Given the description of an element on the screen output the (x, y) to click on. 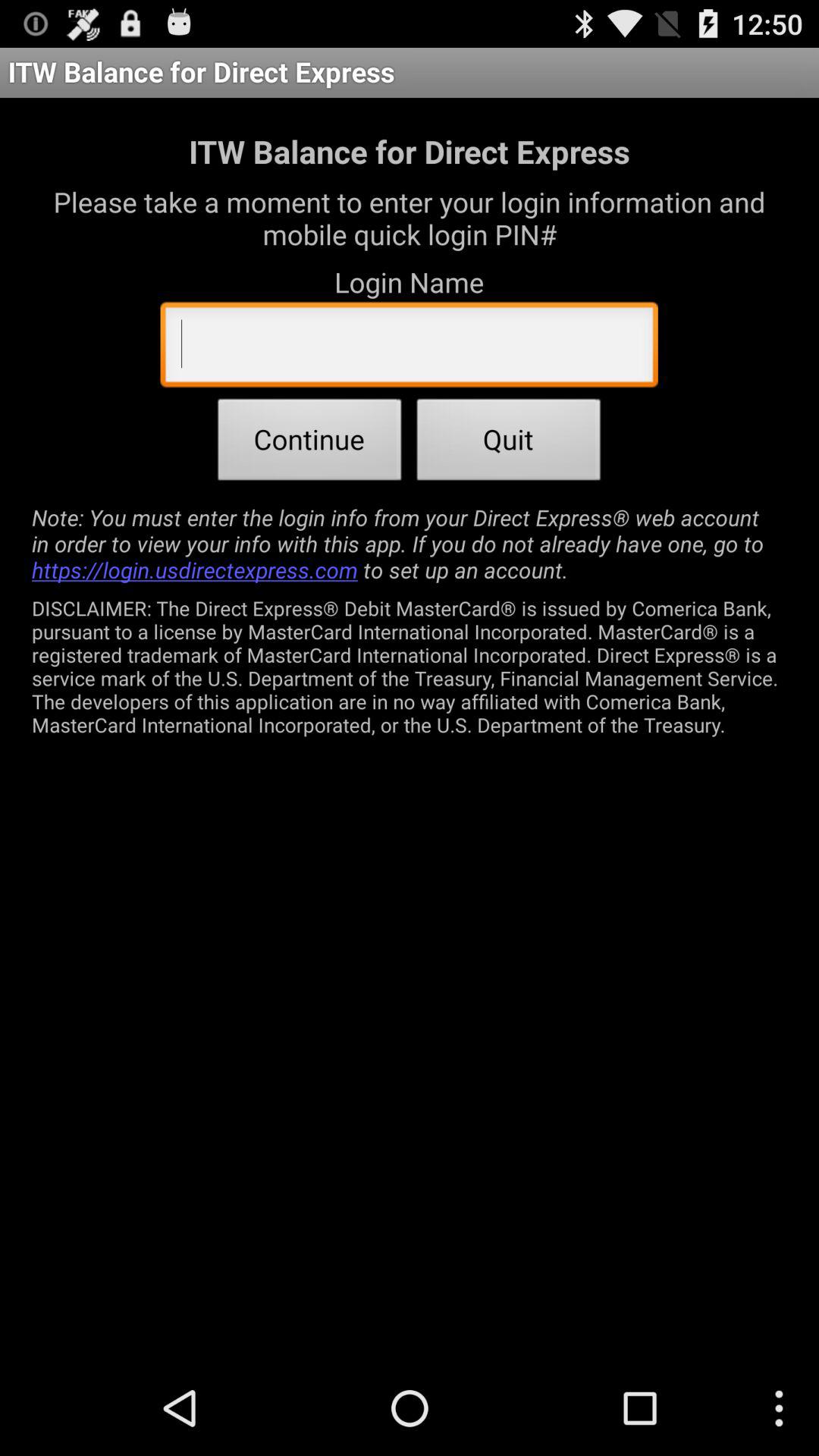
swipe to continue icon (309, 443)
